Given the description of an element on the screen output the (x, y) to click on. 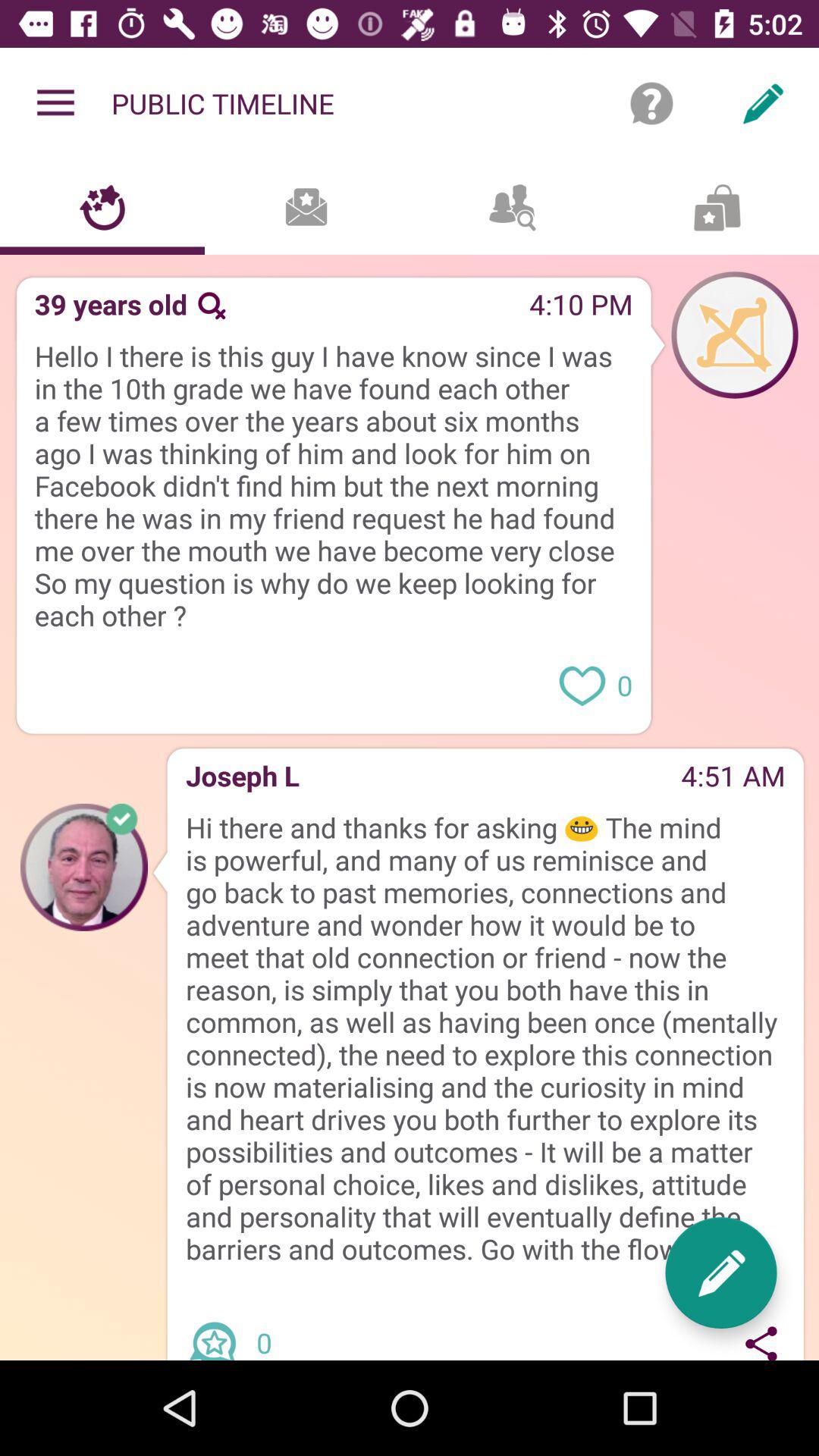
tap the icon below the hello i there (284, 639)
